Given the description of an element on the screen output the (x, y) to click on. 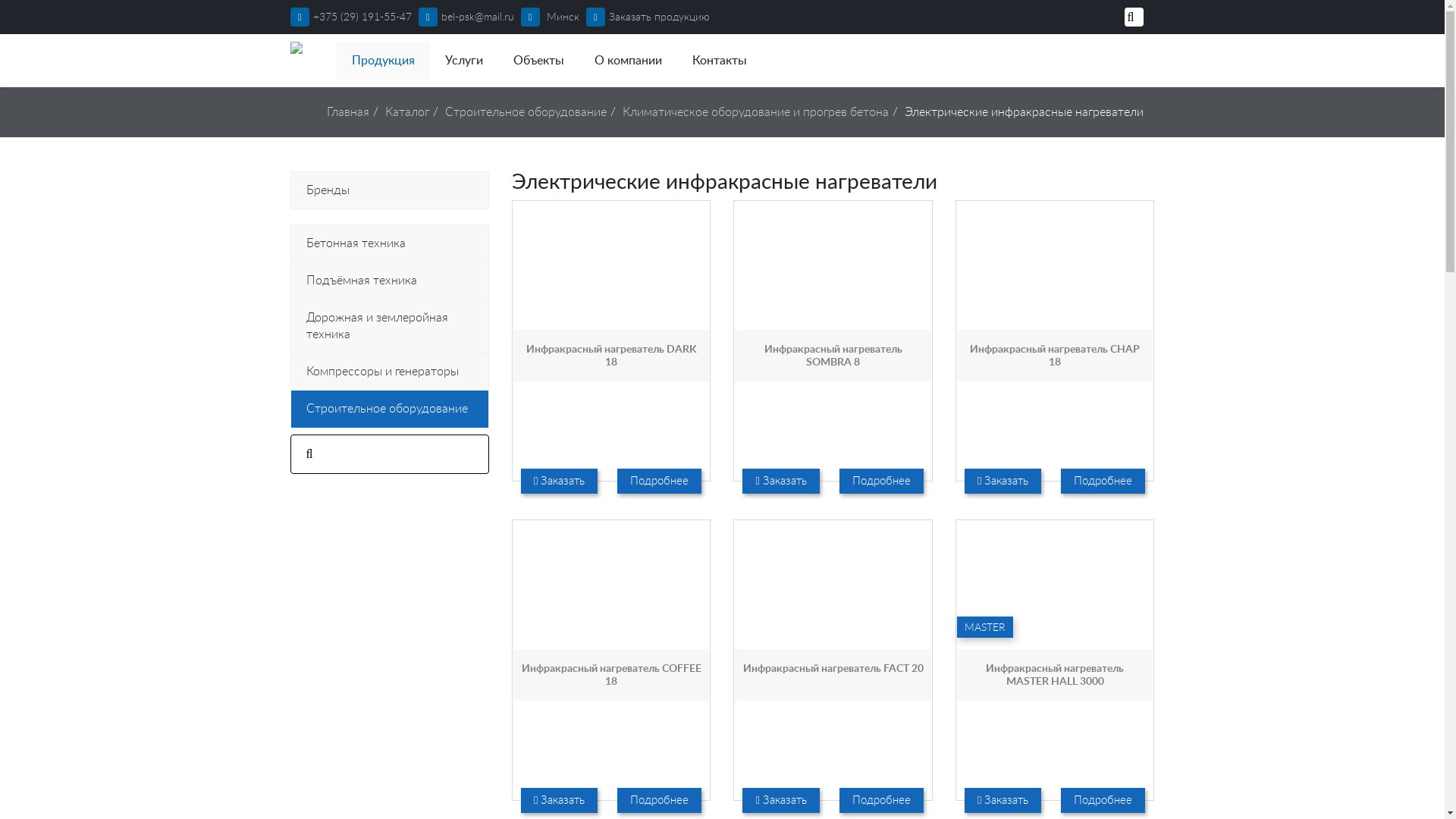
MASTER Element type: text (1054, 626)
bel-psk@mail.ru Element type: text (466, 17)
